Given the description of an element on the screen output the (x, y) to click on. 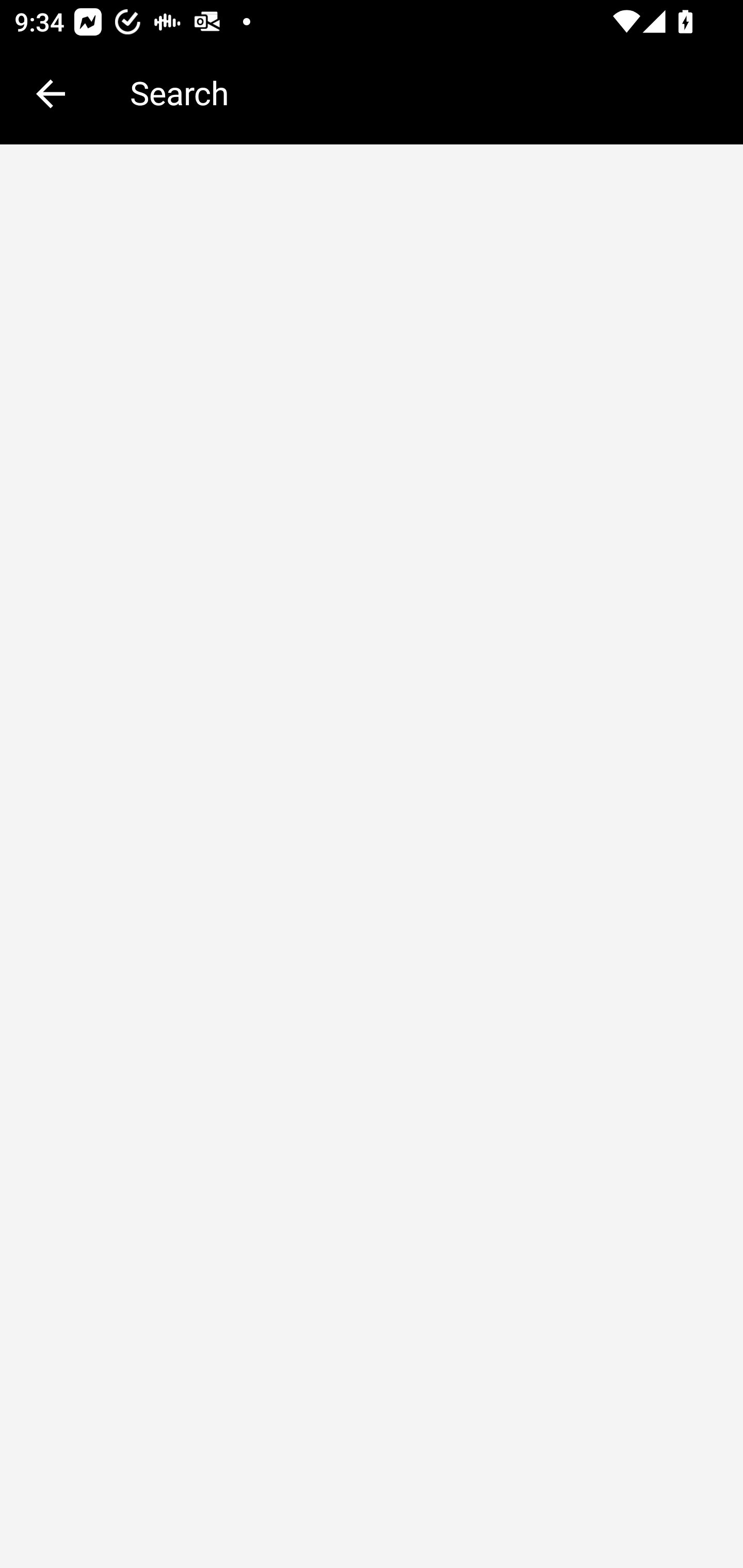
Collapse (50, 93)
Search (421, 92)
